Given the description of an element on the screen output the (x, y) to click on. 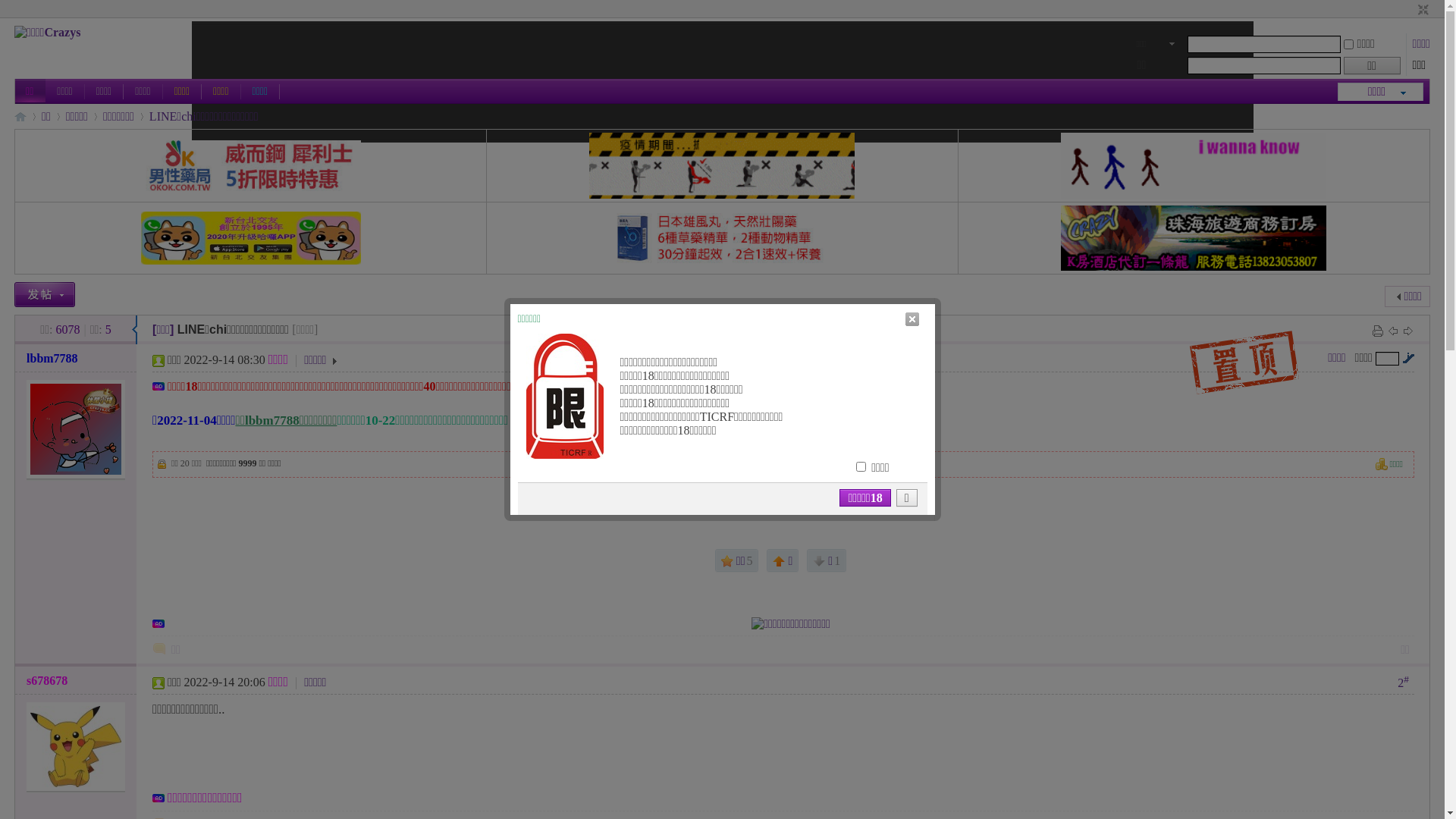
s678678 Element type: text (46, 680)
lbbm7788 Element type: text (52, 357)
Close Element type: text (911, 318)
2# Element type: text (1403, 681)
